Given the description of an element on the screen output the (x, y) to click on. 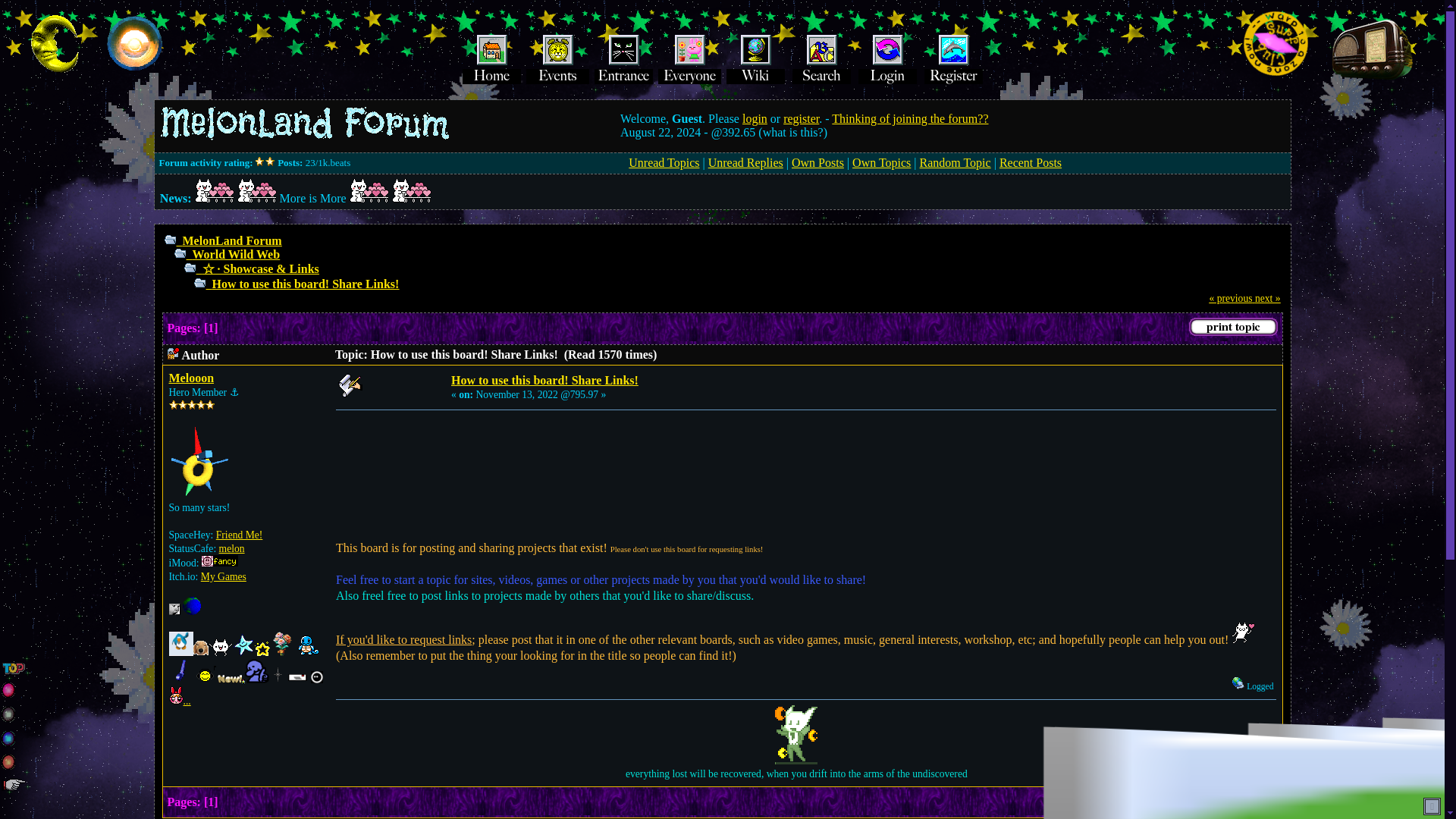
Many Hearts! (368, 190)
Many Hearts! (410, 190)
MelonLand Forum (231, 240)
MK (191, 611)
First 1000 Members! given by Melooon (242, 644)
Melooon (191, 377)
MIDI Warrior given by Inkerlink (204, 673)
Own Posts (818, 162)
View Profile (173, 609)
Recent Posts (1029, 162)
